Given the description of an element on the screen output the (x, y) to click on. 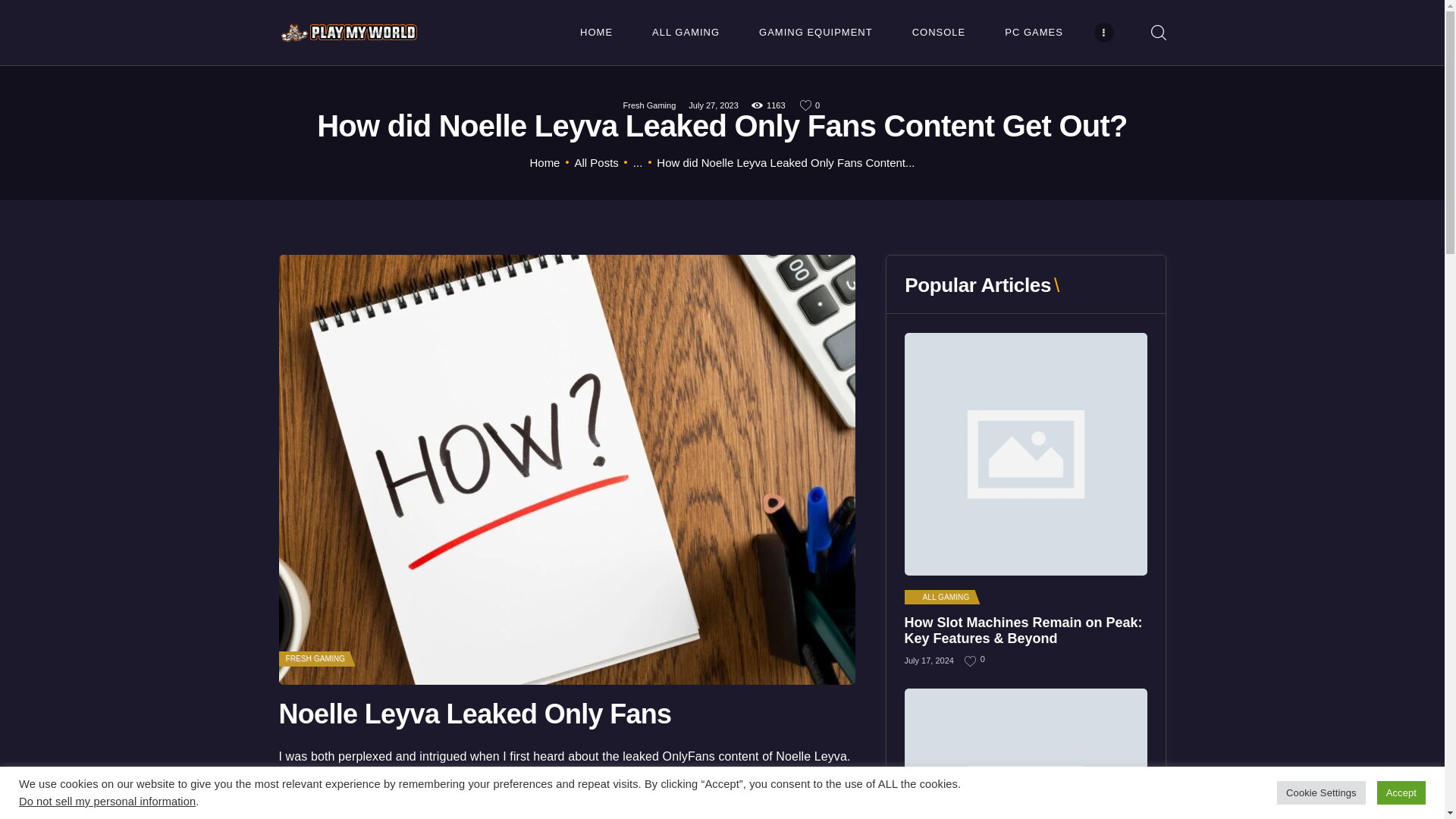
GAMING EQUIPMENT (815, 32)
All Posts (595, 162)
July 27, 2023 (713, 104)
Like (971, 660)
PC GAMES (1034, 32)
View all posts in All Gaming (940, 597)
Home (544, 162)
HOME (595, 32)
0 (810, 104)
View all posts in Fresh Gaming (314, 658)
Fresh Gaming (650, 104)
1163 (769, 104)
CONSOLE (938, 32)
ALL GAMING (685, 32)
Like (810, 104)
